Given the description of an element on the screen output the (x, y) to click on. 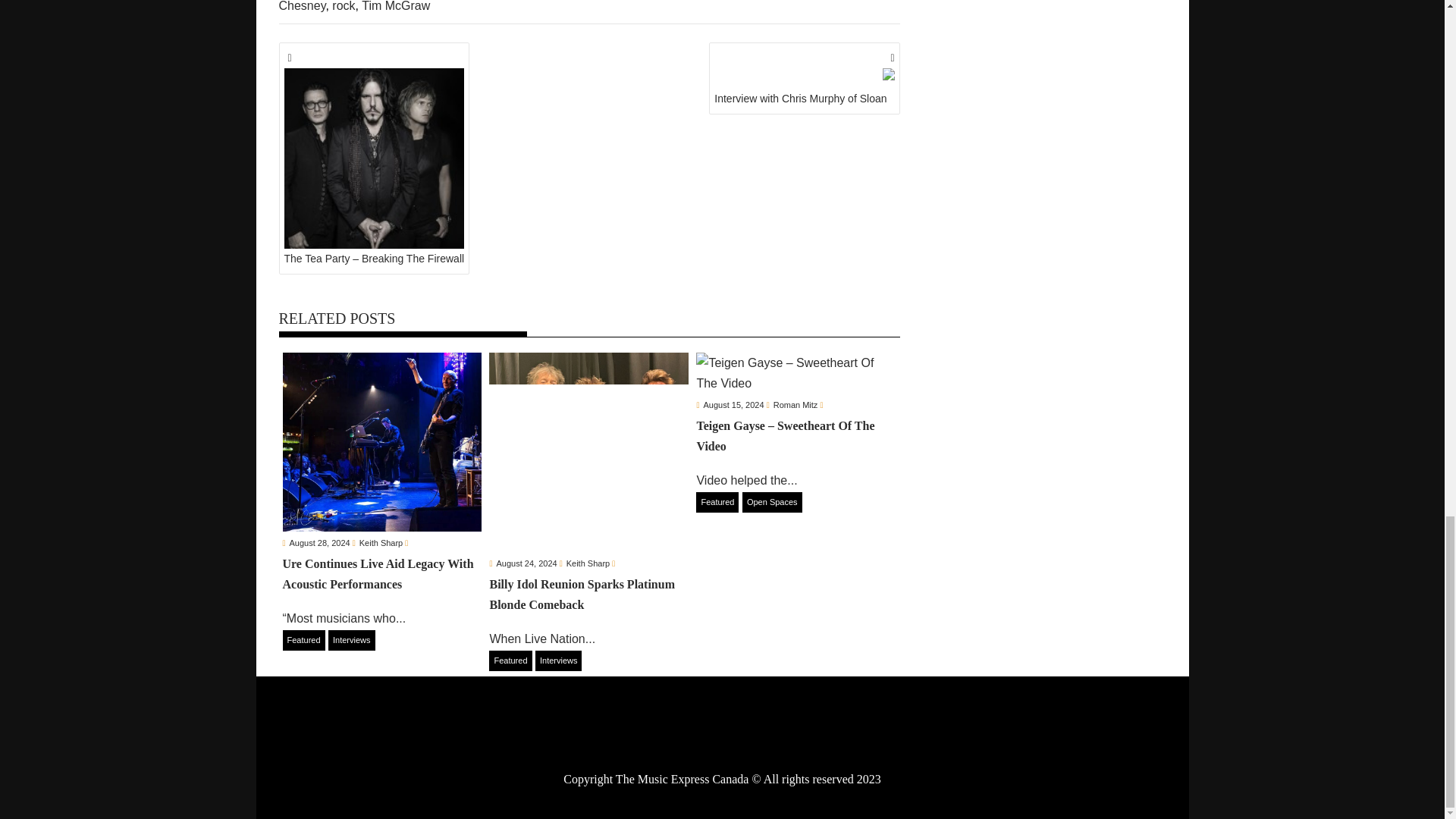
rock (343, 6)
Keith Sharp (381, 542)
Tim McGraw (395, 6)
Roman Mitz (795, 404)
Keith Sharp (381, 542)
Ure Continues Live Aid Legacy With Acoustic Performances (381, 582)
Interview with Chris Murphy of Sloan (804, 78)
Ure Continues Live Aid Legacy With Acoustic Performances (381, 442)
Kenny Chesney (569, 6)
Billy Idol Reunion Sparks Platinum Blonde Comeback (588, 452)
